Given the description of an element on the screen output the (x, y) to click on. 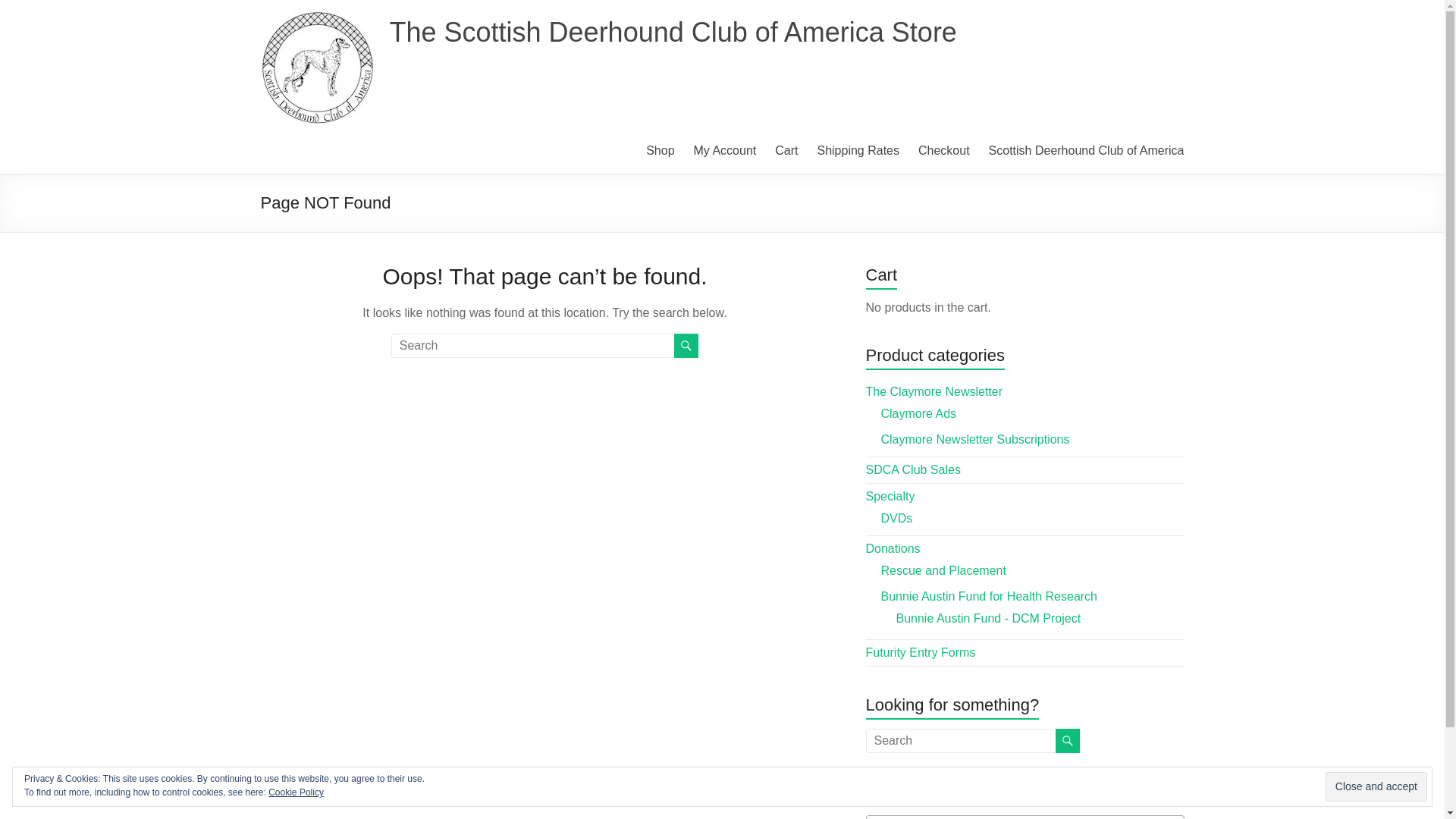
SDCA Club Sales (913, 469)
Claymore Newsletter Subscriptions (975, 439)
Shop (660, 150)
Futurity Entry Forms (920, 652)
Bunnie Austin Fund - DCM Project (988, 617)
Cookie Policy (295, 792)
Donations (893, 548)
Cart (785, 150)
The Scottish Deerhound Club of America Store (673, 31)
The Scottish Deerhound Club of America Store (673, 31)
Checkout (943, 150)
My Account (725, 150)
Claymore Ads (918, 413)
Close and accept (1375, 786)
The Claymore Newsletter (934, 391)
